Given the description of an element on the screen output the (x, y) to click on. 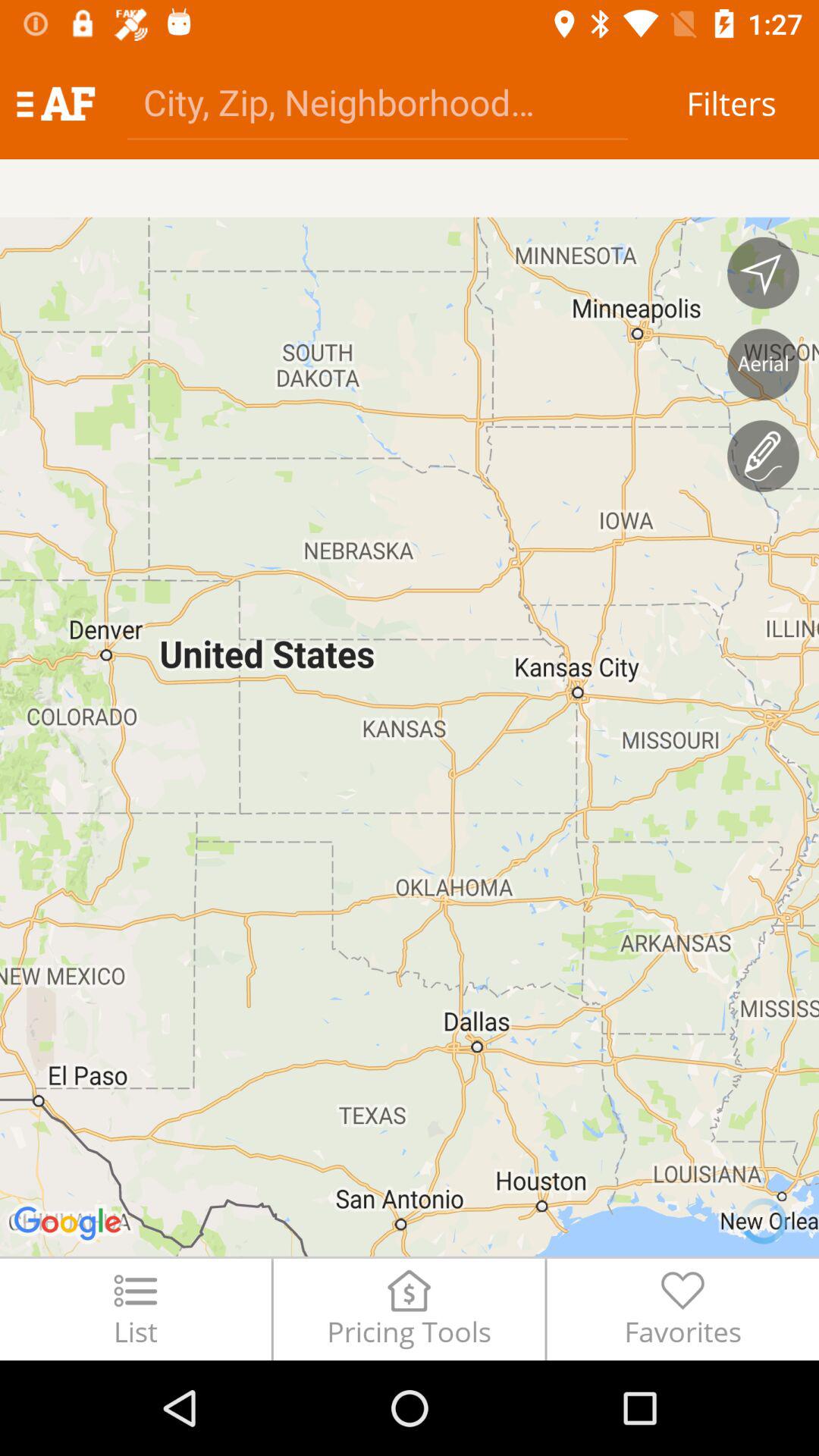
search (377, 102)
